Given the description of an element on the screen output the (x, y) to click on. 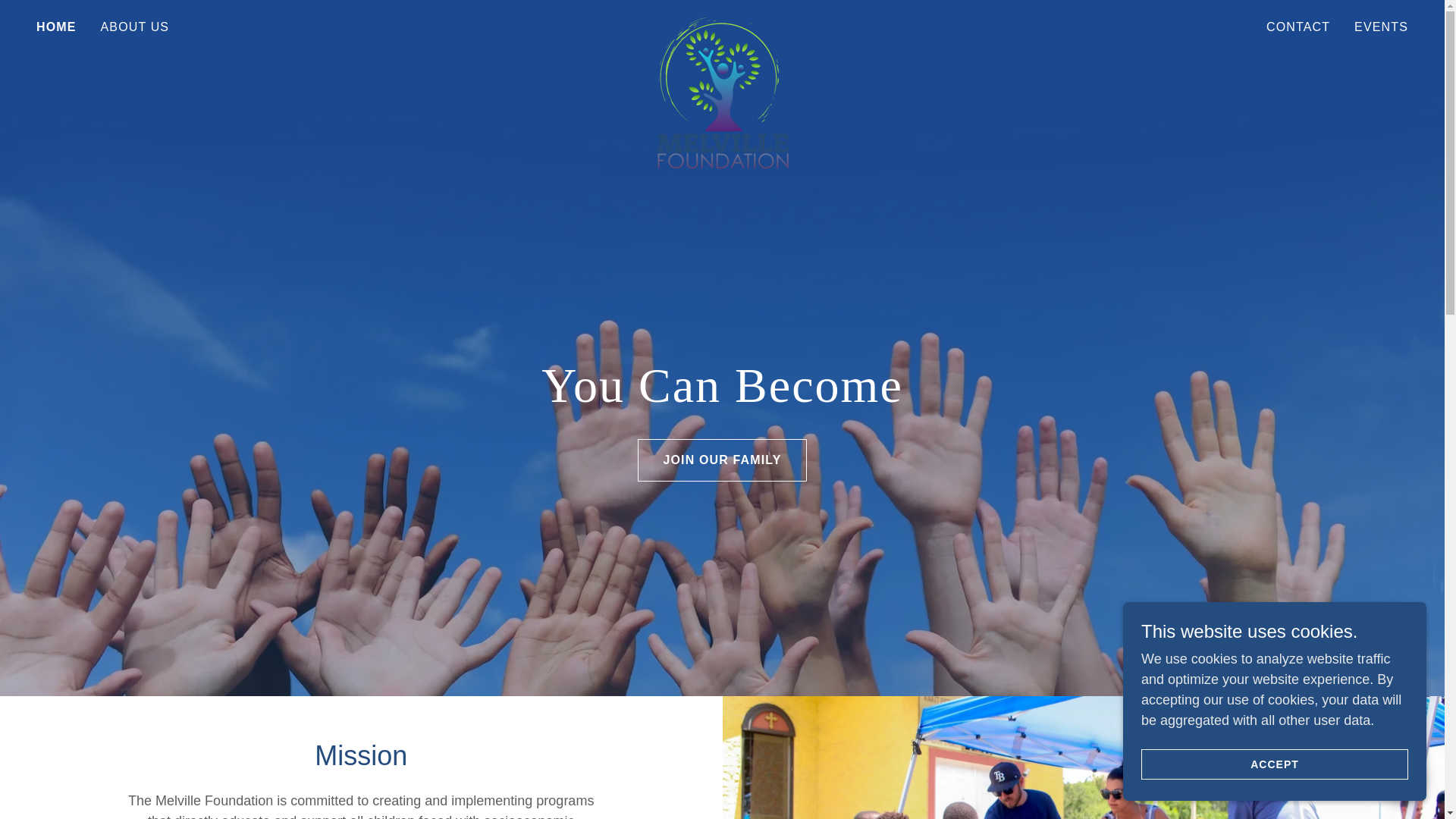
ABOUT US (135, 26)
Melville Foundation Inc (721, 24)
EVENTS (1380, 26)
ACCEPT (1274, 764)
CONTACT (1298, 26)
HOME (56, 27)
JOIN OUR FAMILY (721, 459)
